Given the description of an element on the screen output the (x, y) to click on. 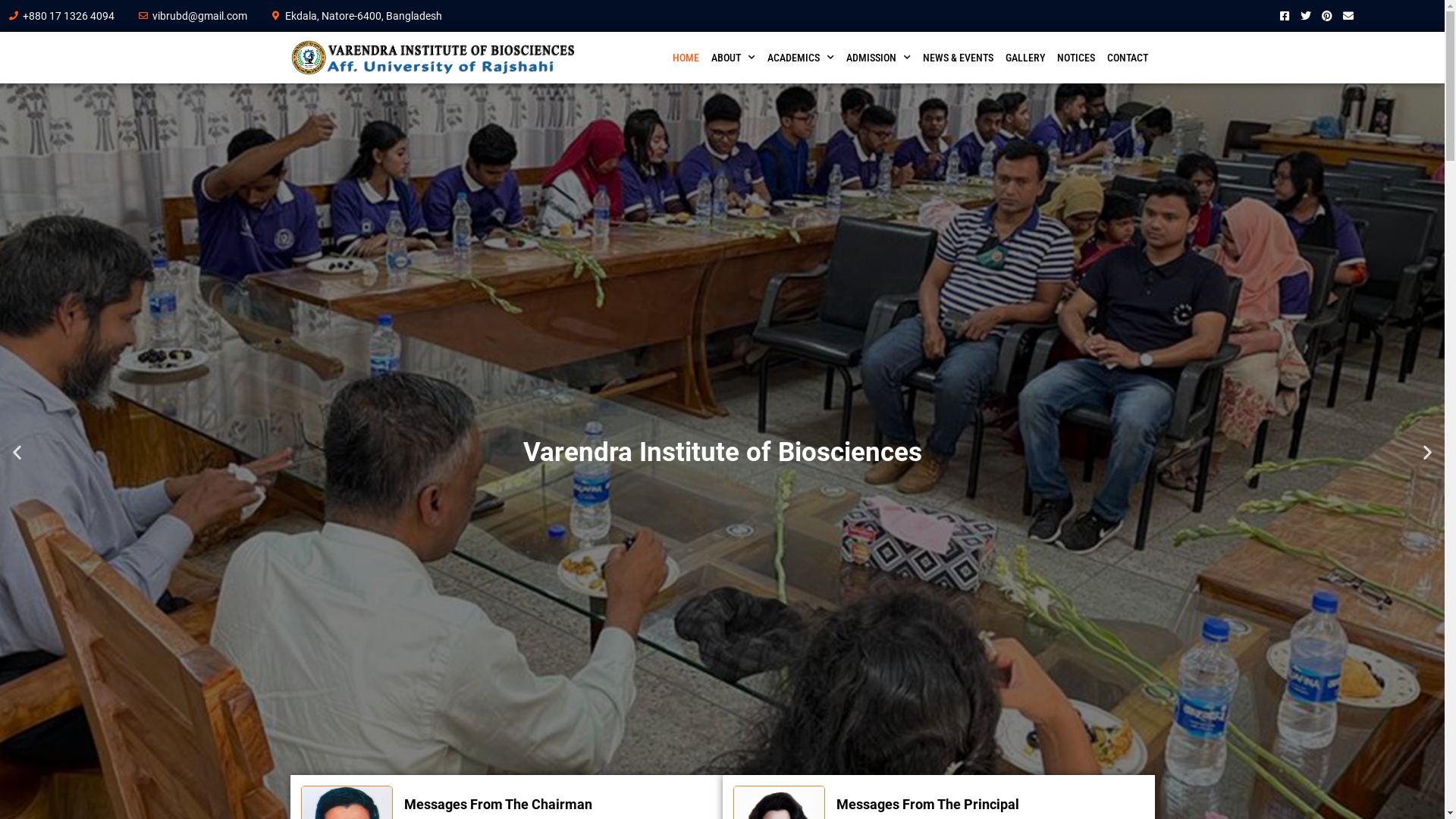
NOTICES Element type: text (1076, 57)
+880 17 1326 4094 Element type: text (60, 15)
CONTACT Element type: text (1127, 57)
ACADEMICS Element type: text (800, 57)
GALLERY Element type: text (1025, 57)
ABOUT Element type: text (733, 57)
NEWS & EVENTS Element type: text (957, 57)
ADMISSION Element type: text (878, 57)
vibrubd@gmail.com Element type: text (192, 15)
Messages From The Principal Element type: text (927, 804)
Ekdala, Natore-6400, Bangladesh Element type: text (355, 15)
Messages From The Chairman Element type: text (498, 804)
HOME Element type: text (685, 57)
